Given the description of an element on the screen output the (x, y) to click on. 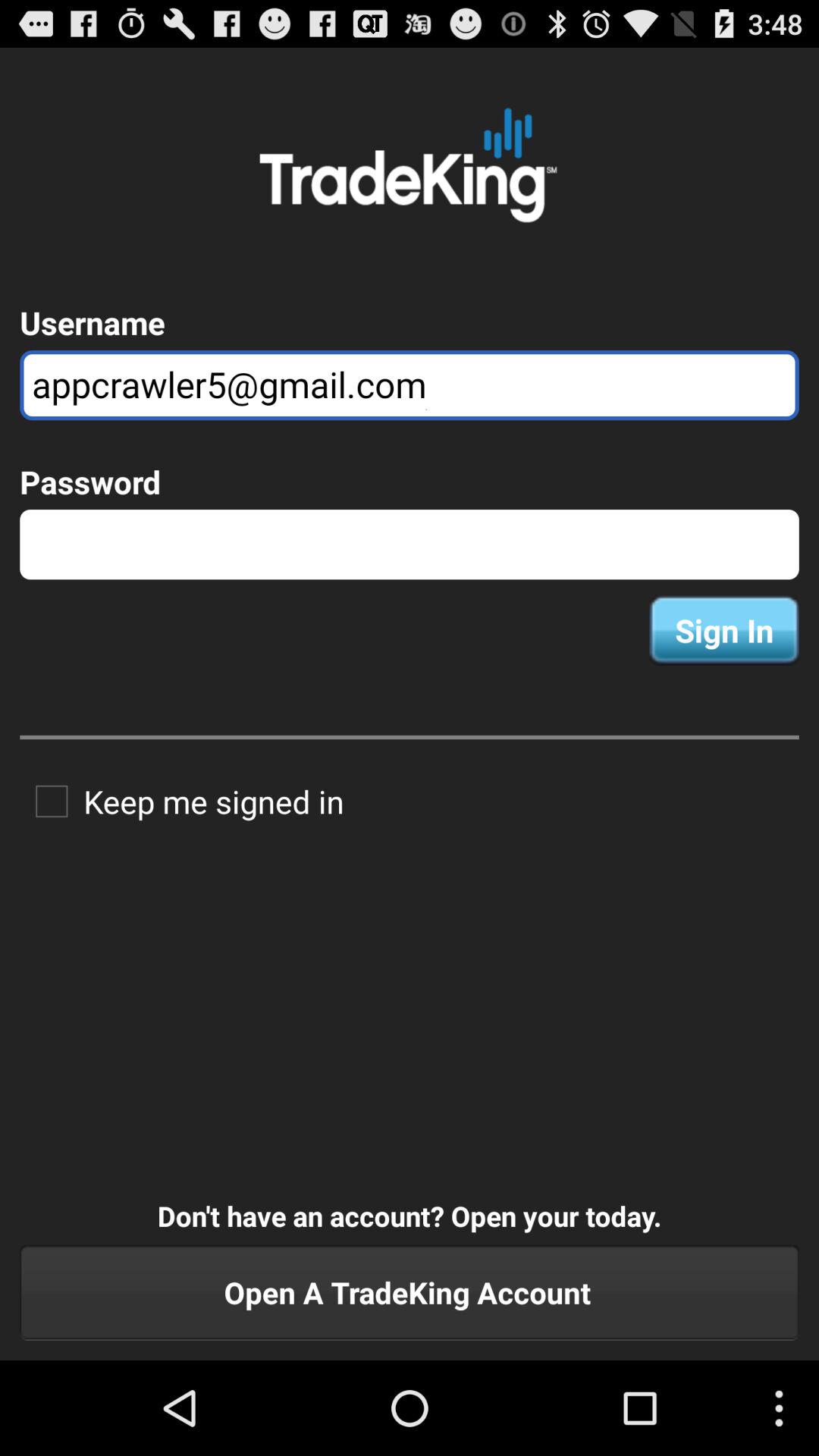
press the icon above the password icon (409, 385)
